Given the description of an element on the screen output the (x, y) to click on. 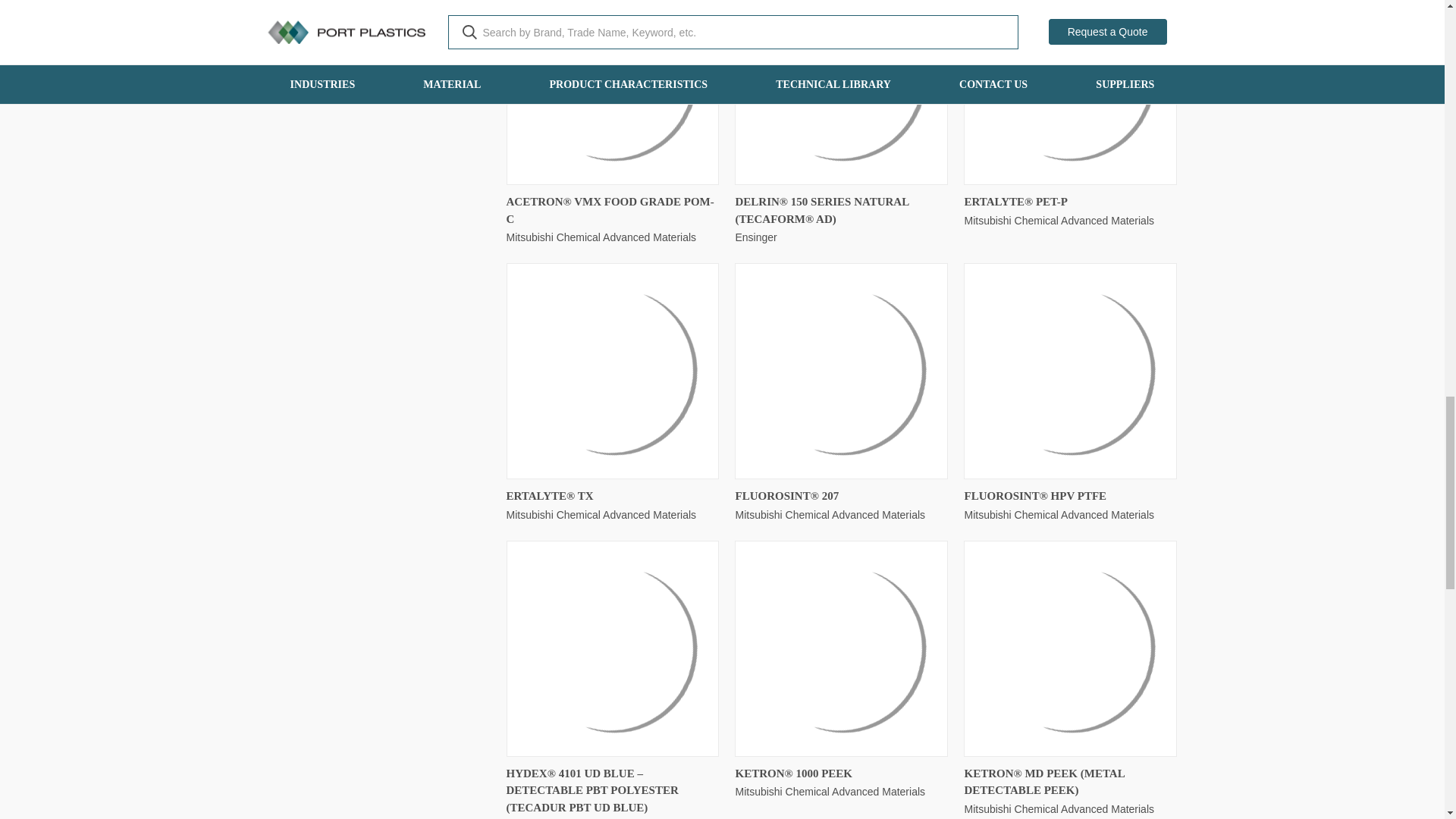
Beverage (381, 55)
Snack Food (381, 34)
